Given the description of an element on the screen output the (x, y) to click on. 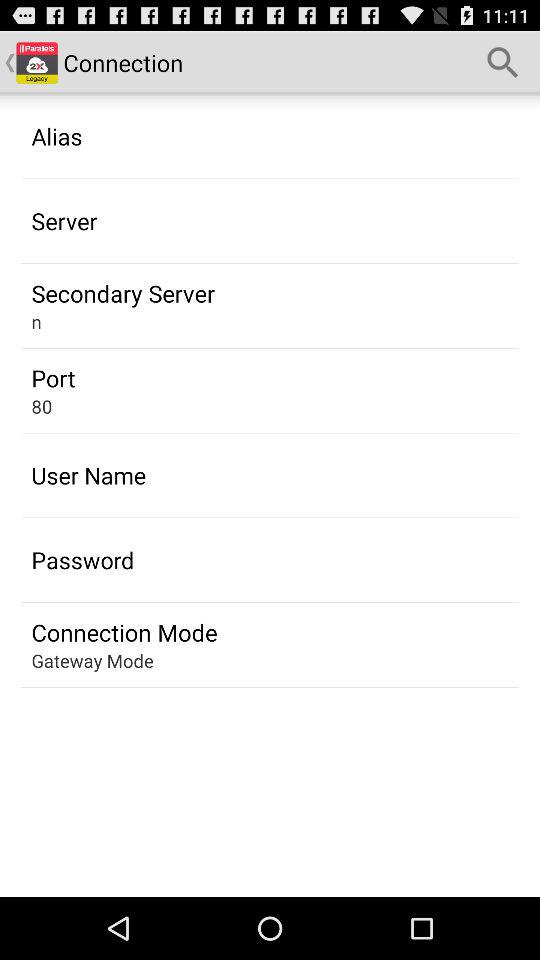
swipe until password icon (82, 560)
